Given the description of an element on the screen output the (x, y) to click on. 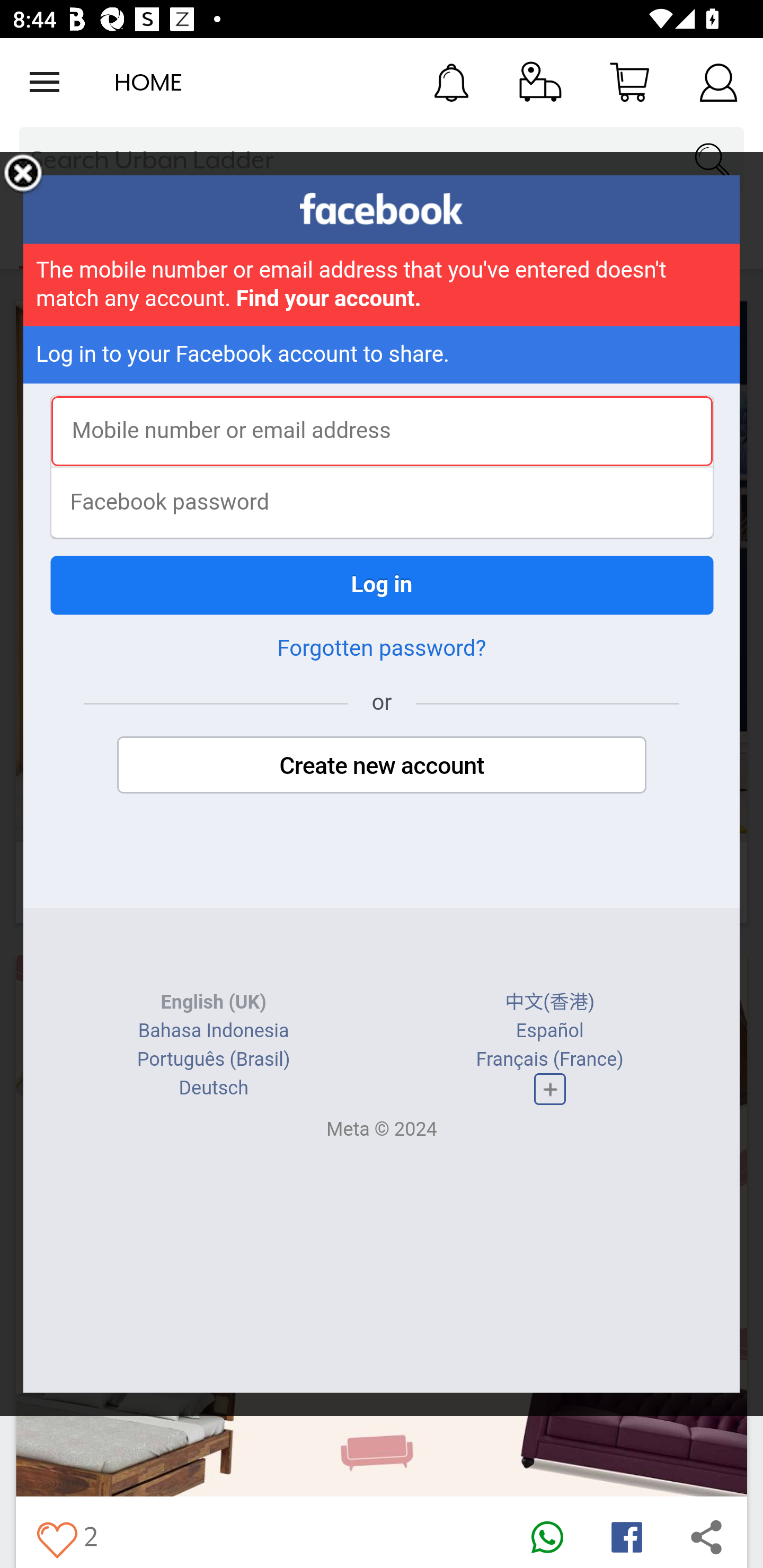
facebook (381, 208)
Find your account. (328, 298)
Log in (381, 585)
Forgotten password? (381, 648)
Create new account (381, 764)
中文(香港) (550, 1002)
Bahasa Indonesia (214, 1030)
Español (549, 1030)
Português (Brasil) (212, 1058)
Français (France) (549, 1058)
Complete list of languages (548, 1088)
Deutsch (212, 1087)
